Given the description of an element on the screen output the (x, y) to click on. 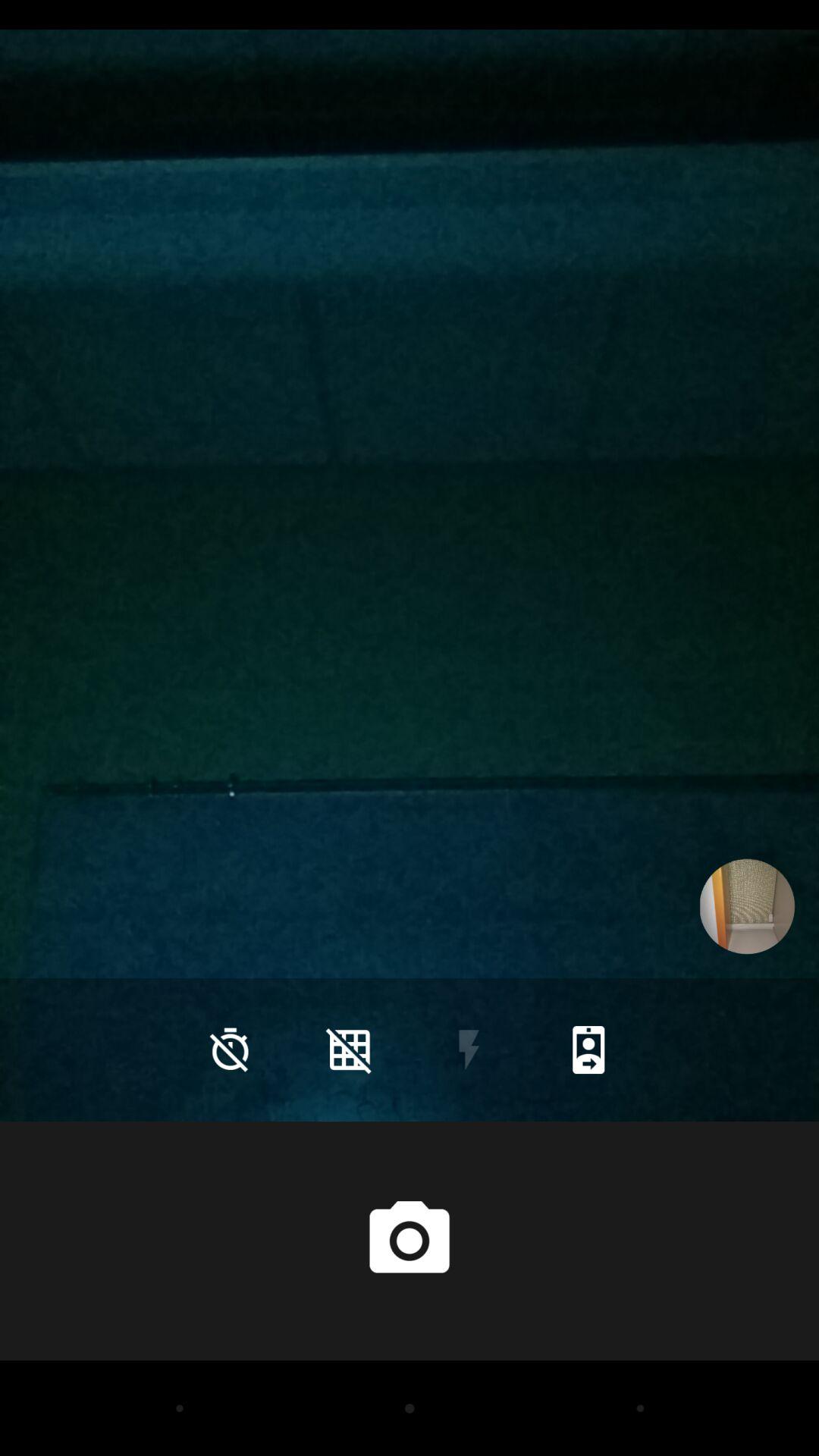
launch the item at the bottom left corner (230, 1049)
